Given the description of an element on the screen output the (x, y) to click on. 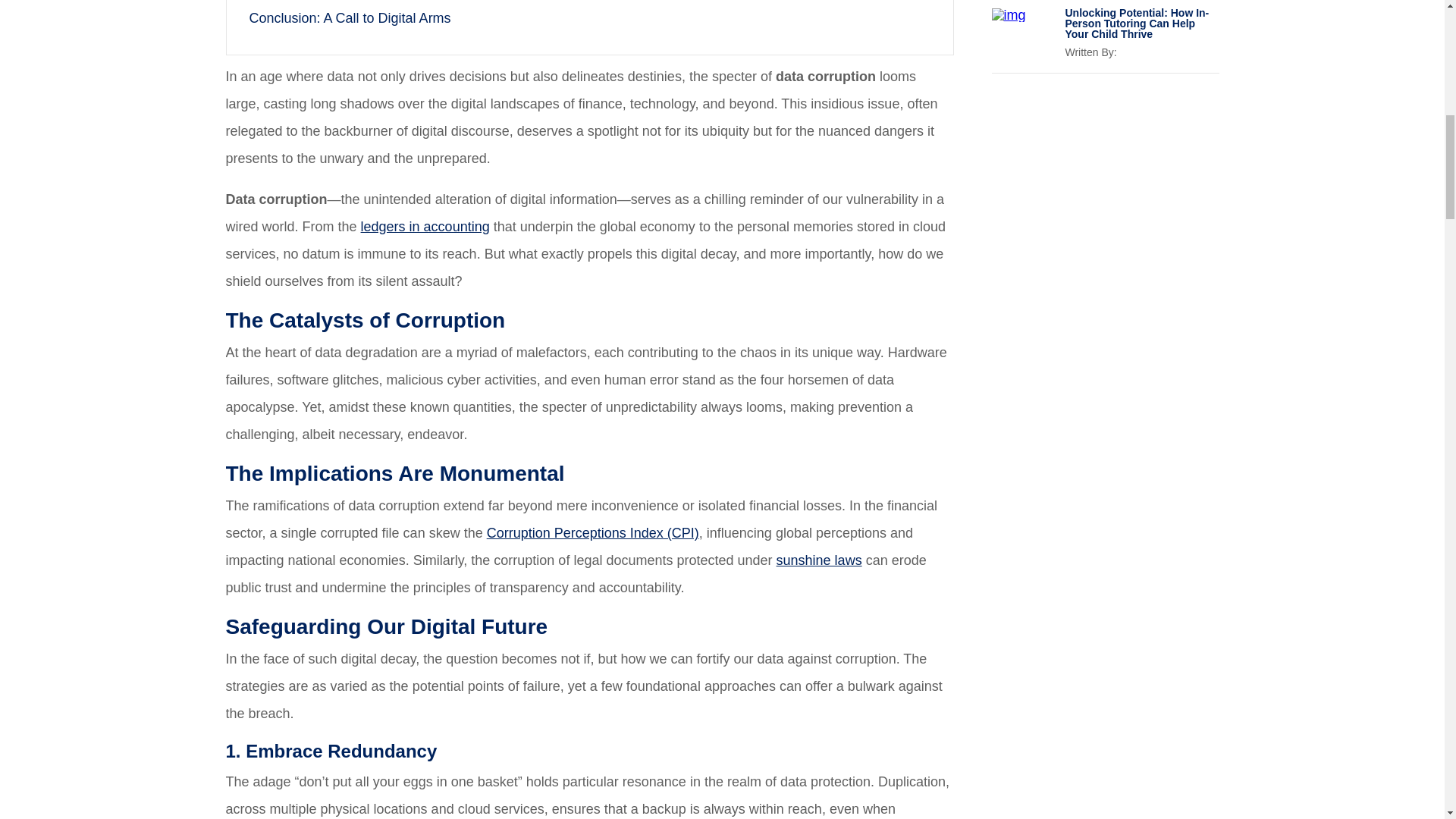
Conclusion: A Call to Digital Arms (348, 17)
sunshine laws (818, 560)
ledgers in accounting (425, 226)
